Given the description of an element on the screen output the (x, y) to click on. 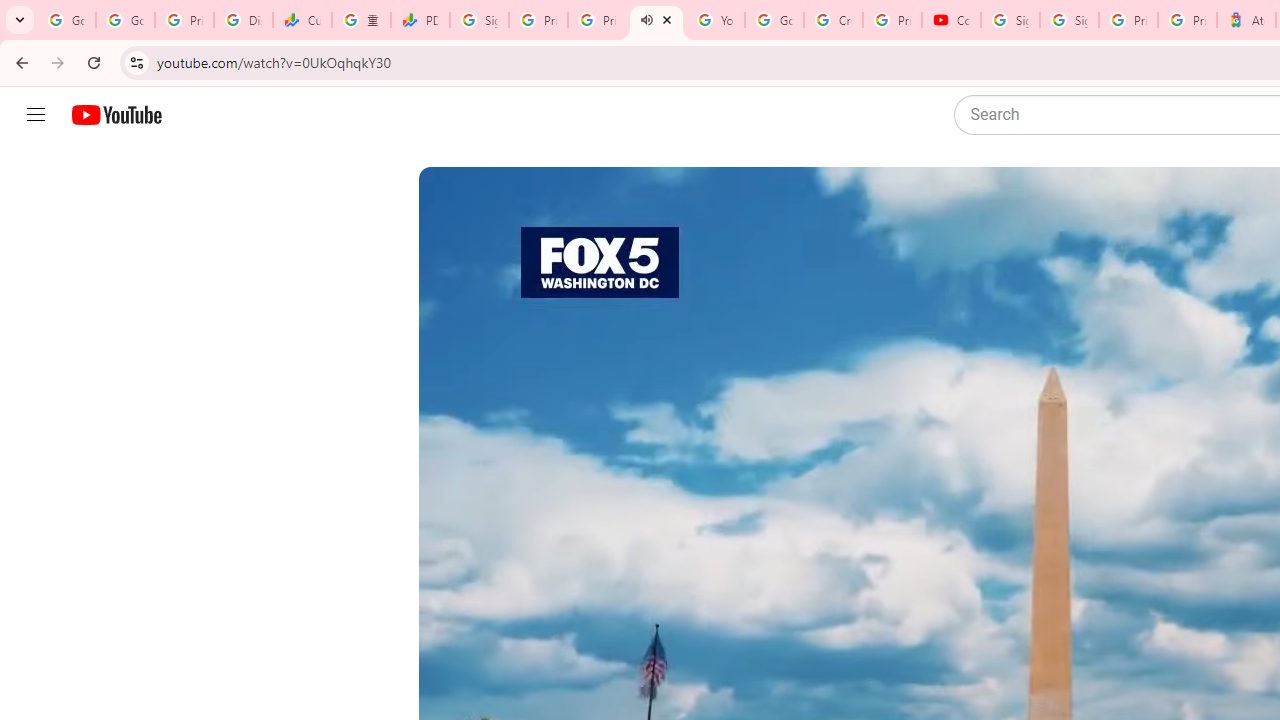
Google Workspace Admin Community (66, 20)
